Given the description of an element on the screen output the (x, y) to click on. 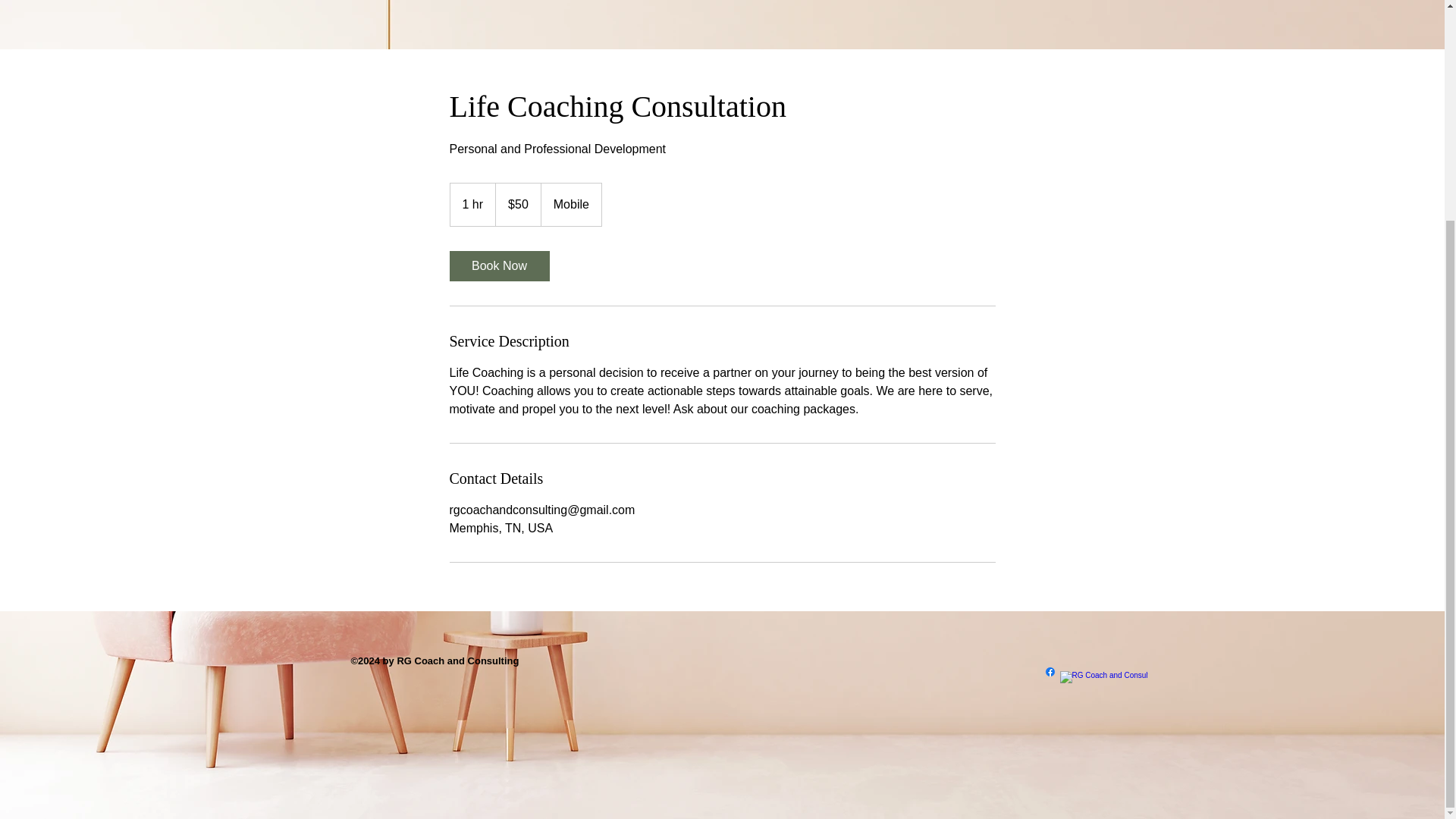
Book Now (498, 265)
